Given the description of an element on the screen output the (x, y) to click on. 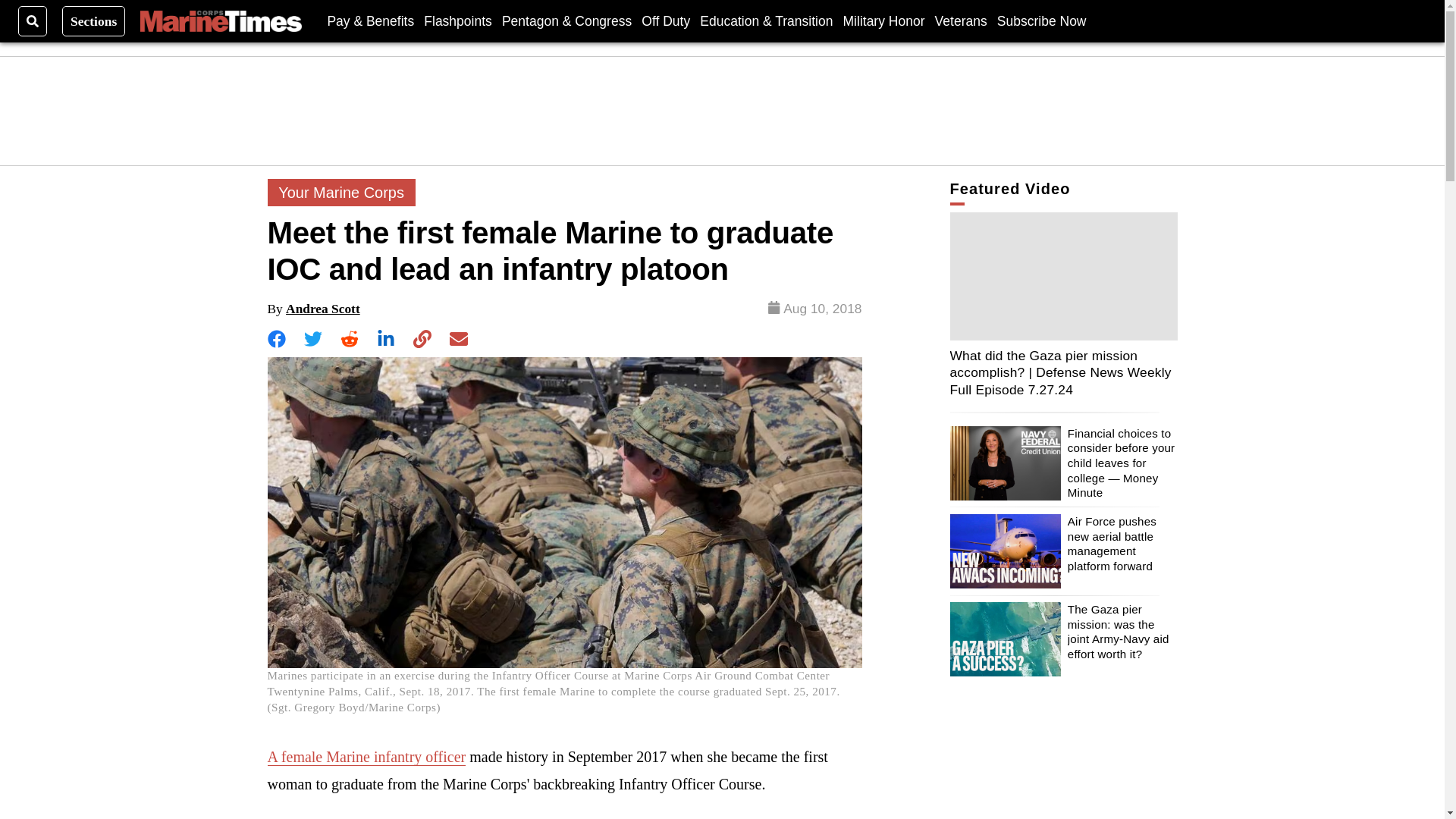
Sections (93, 20)
Military Honor (883, 20)
Flashpoints (457, 20)
Veterans (960, 20)
Marine Corps Times Logo (220, 20)
Off Duty (666, 20)
